Given the description of an element on the screen output the (x, y) to click on. 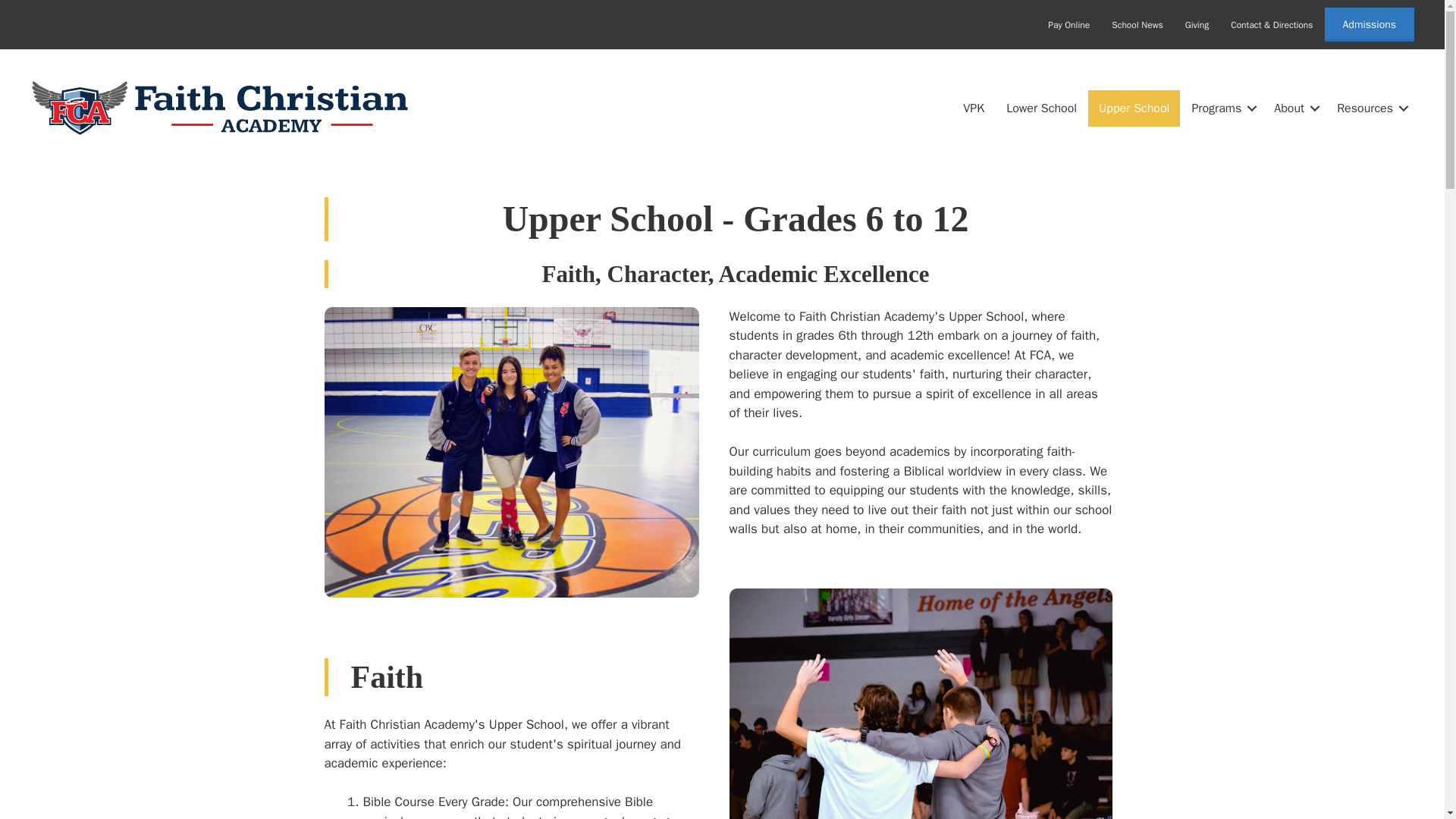
cropped-Logo-Alt.png (219, 107)
Lower School (1041, 107)
Admissions (1368, 24)
Pay Online (1068, 24)
1P9A4054 (511, 452)
Upper School (1133, 107)
About (1293, 107)
Giving (1197, 24)
School News (1136, 24)
Resources (1369, 107)
